Given the description of an element on the screen output the (x, y) to click on. 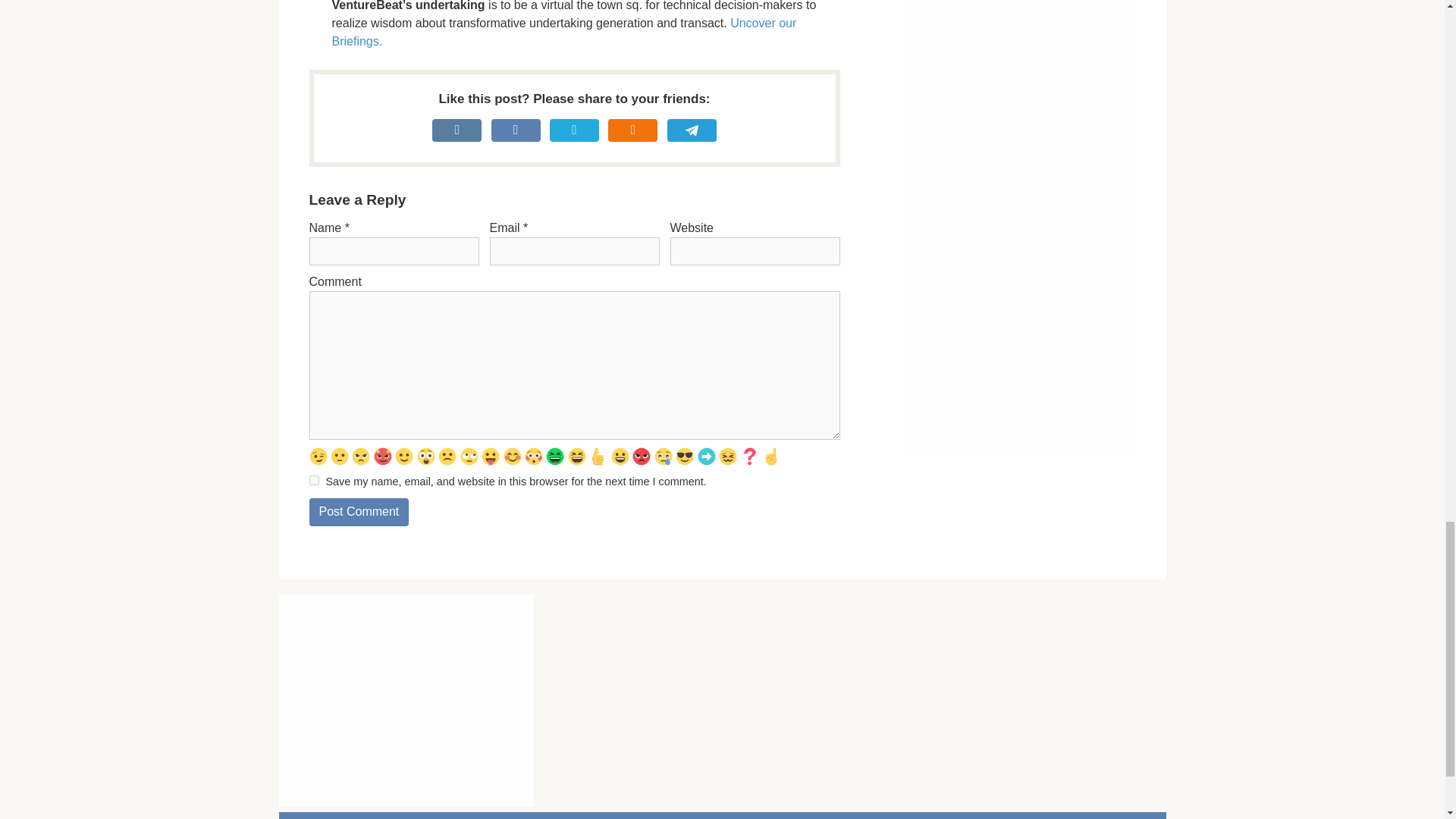
CONTACTS (357, 815)
Uncover our Briefings. (563, 31)
yes (313, 480)
Post Comment (358, 511)
Post Comment (358, 511)
